Given the description of an element on the screen output the (x, y) to click on. 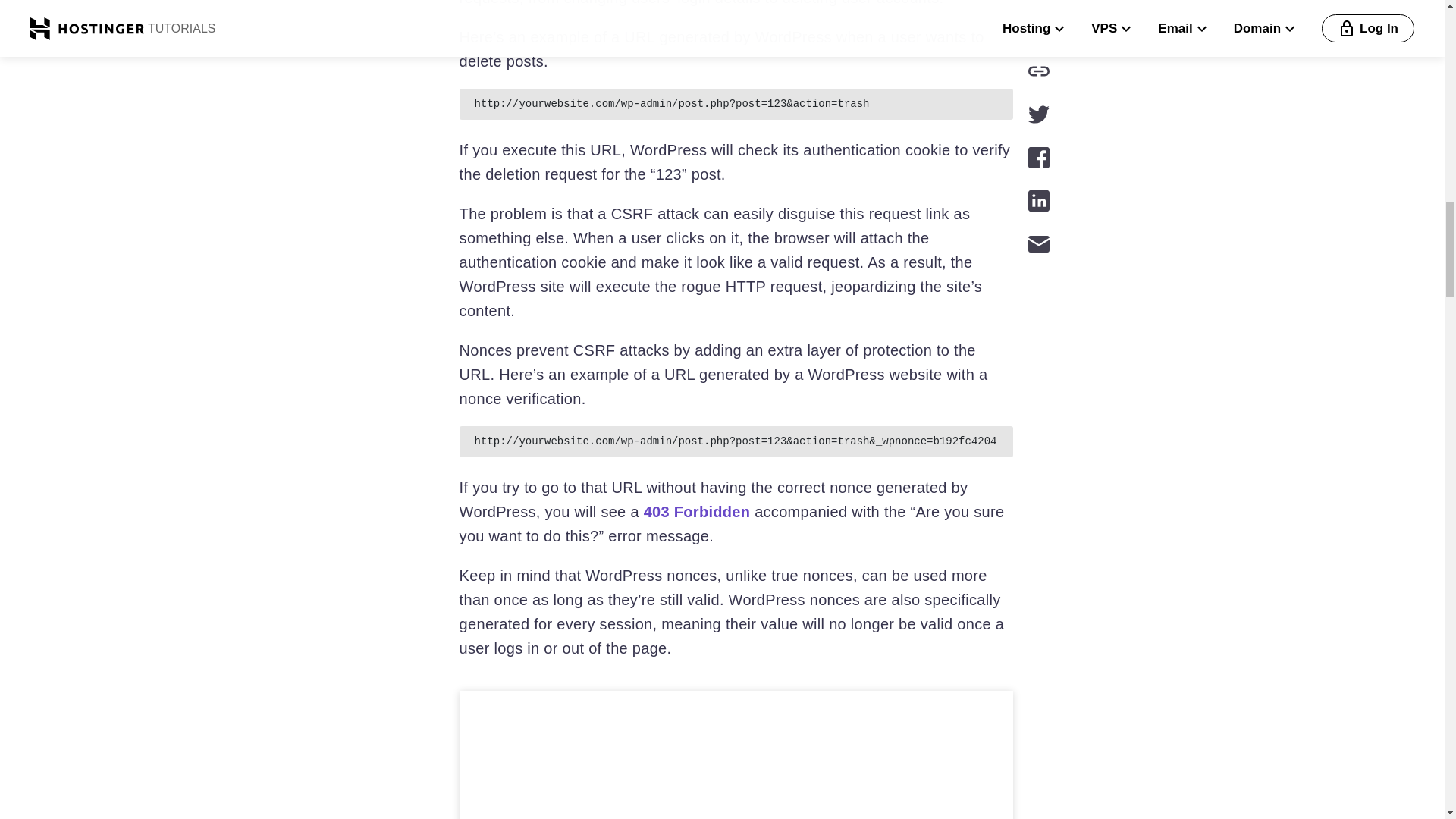
403 Forbidden (697, 511)
